Given the description of an element on the screen output the (x, y) to click on. 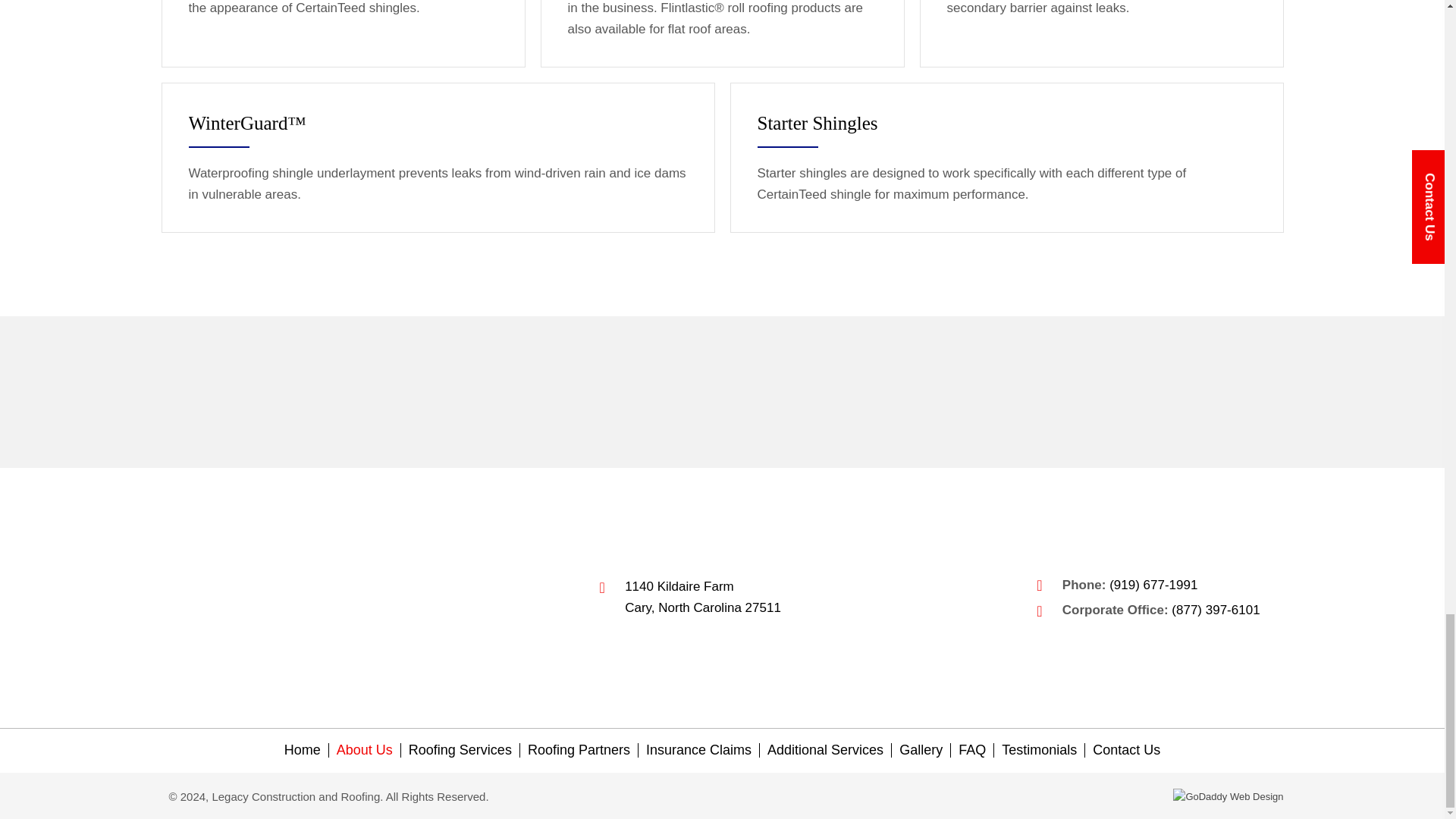
Insurance Claims (698, 749)
Roofing Partners (578, 749)
FAQ (971, 749)
Legacy Construction and Roofing (279, 597)
Additional Services (825, 749)
Roofing Services (460, 749)
Home (702, 597)
Gallery (302, 749)
About Us (920, 749)
